Given the description of an element on the screen output the (x, y) to click on. 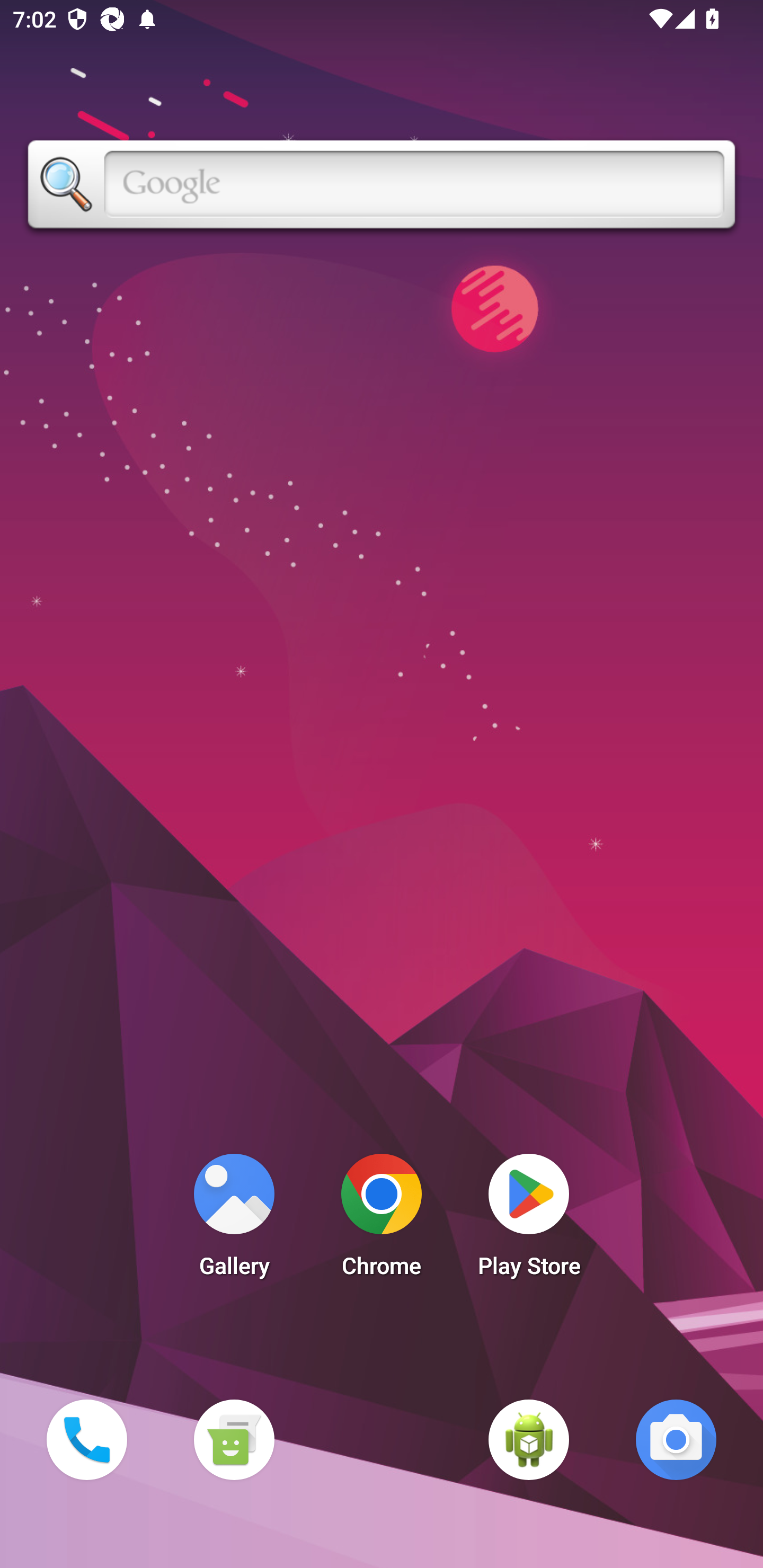
Gallery (233, 1220)
Chrome (381, 1220)
Play Store (528, 1220)
Phone (86, 1439)
Messaging (233, 1439)
WebView Browser Tester (528, 1439)
Camera (676, 1439)
